Given the description of an element on the screen output the (x, y) to click on. 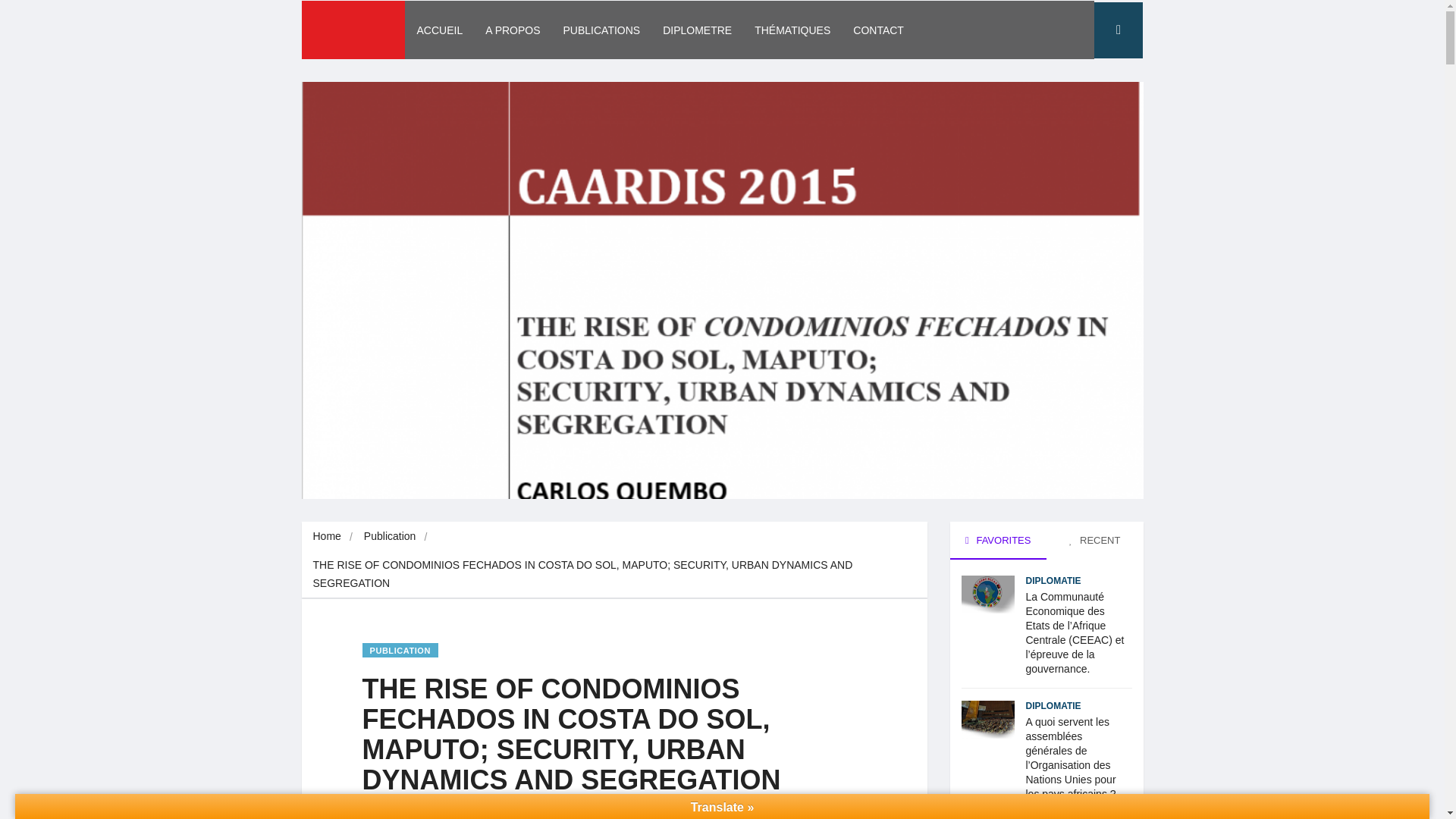
ACCUEIL (439, 30)
A PROPOS (512, 30)
CONTACT (878, 30)
Publication (390, 535)
DIPLOMETRE (696, 30)
PUBLICATIONS (601, 30)
PUBLICATION (400, 649)
Home (326, 535)
